Given the description of an element on the screen output the (x, y) to click on. 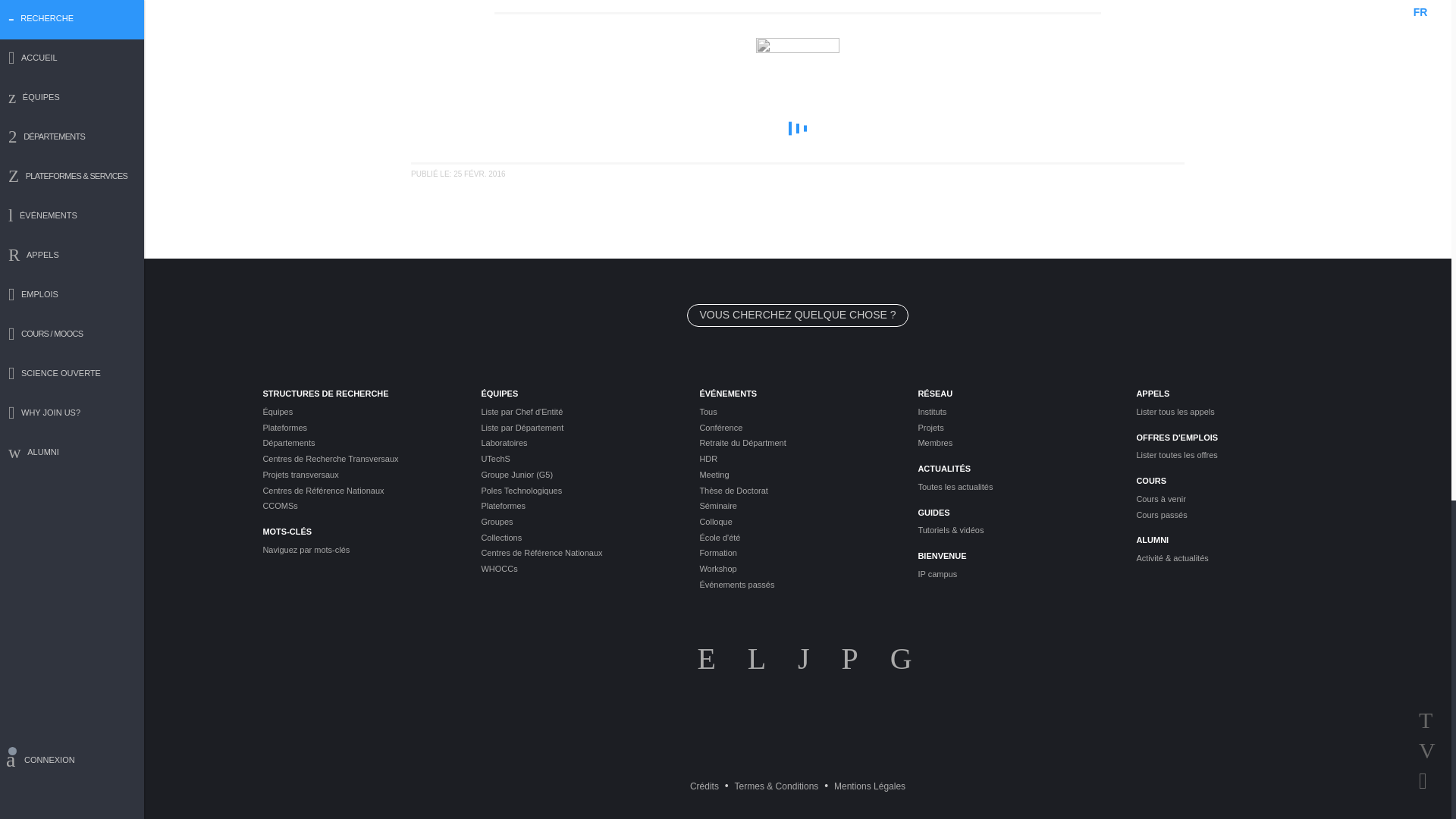
0 (797, 128)
Permalien vers ERC-2012-AdG Systematics (457, 173)
